Given the description of an element on the screen output the (x, y) to click on. 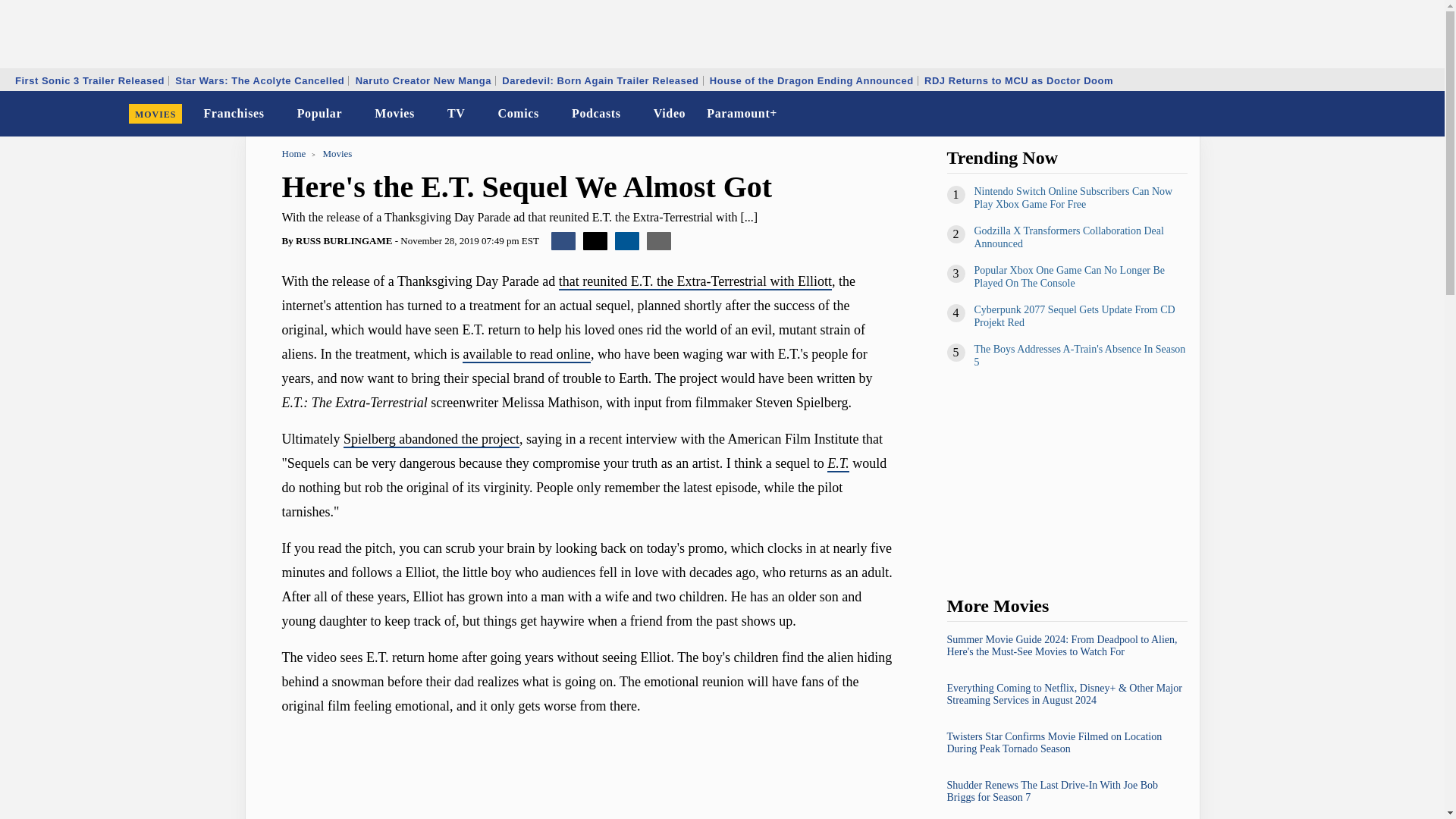
Naruto Creator New Manga (423, 80)
Movies (394, 113)
MOVIES (155, 113)
Daredevil: Born Again Trailer Released (599, 80)
House of the Dragon Ending Announced (811, 80)
RDJ Returns to MCU as Doctor Doom (1018, 80)
Search (1422, 114)
First Sonic 3 Trailer Released (89, 80)
Dark Mode (1394, 113)
Star Wars: The Acolyte Cancelled (259, 80)
